Given the description of an element on the screen output the (x, y) to click on. 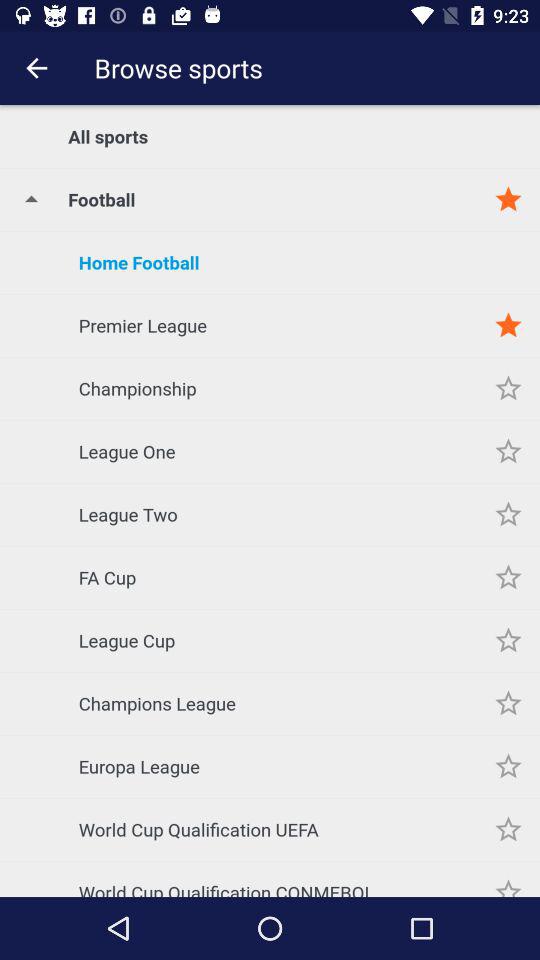
favorite toggle (508, 451)
